Given the description of an element on the screen output the (x, y) to click on. 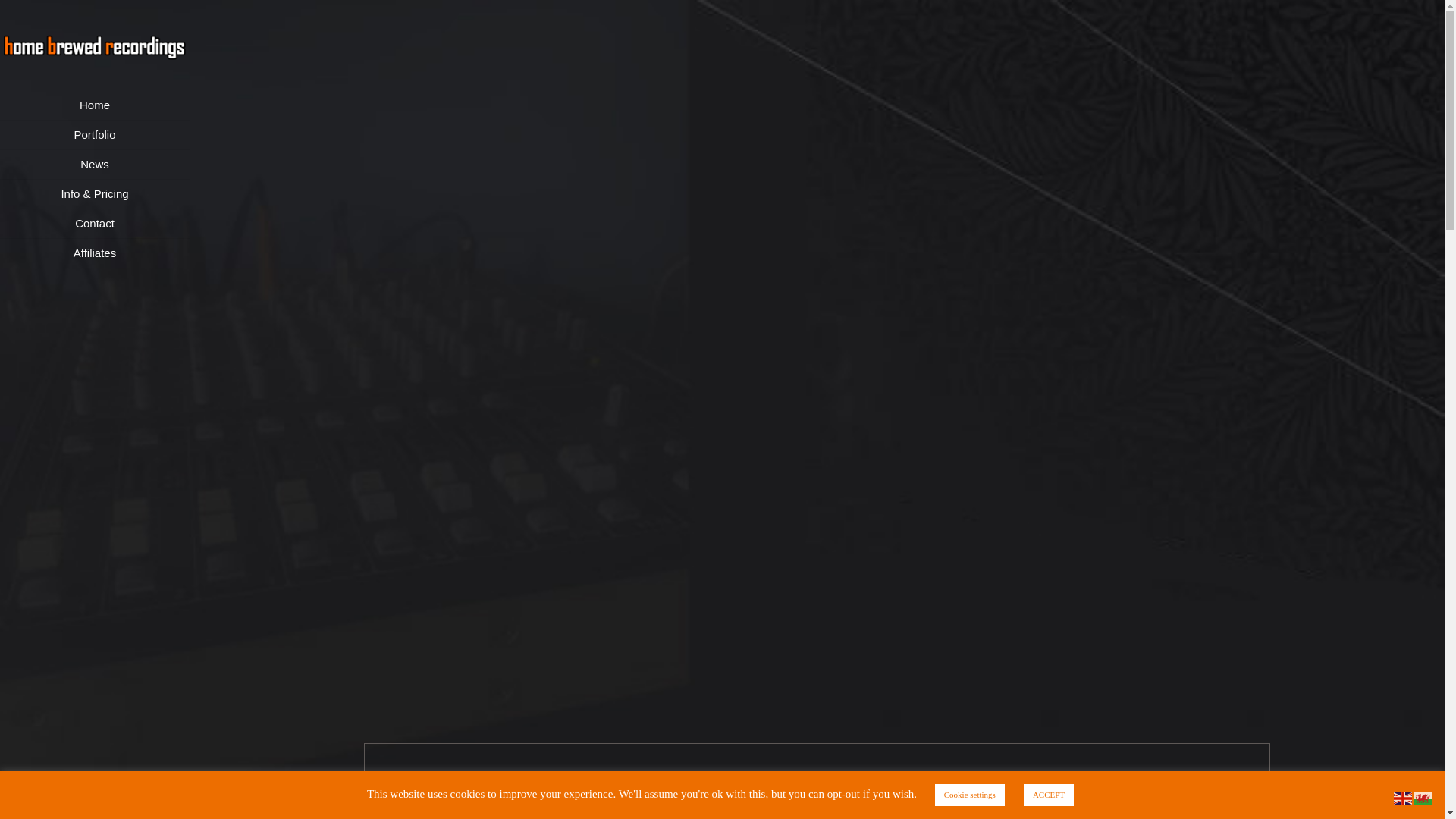
English (1403, 797)
Portfolio (94, 134)
Home (94, 105)
News (94, 164)
Twitter (93, 798)
Welsh (1422, 797)
Instagram (115, 798)
Facebook (74, 798)
Affiliates (94, 253)
Contact (94, 224)
